Given the description of an element on the screen output the (x, y) to click on. 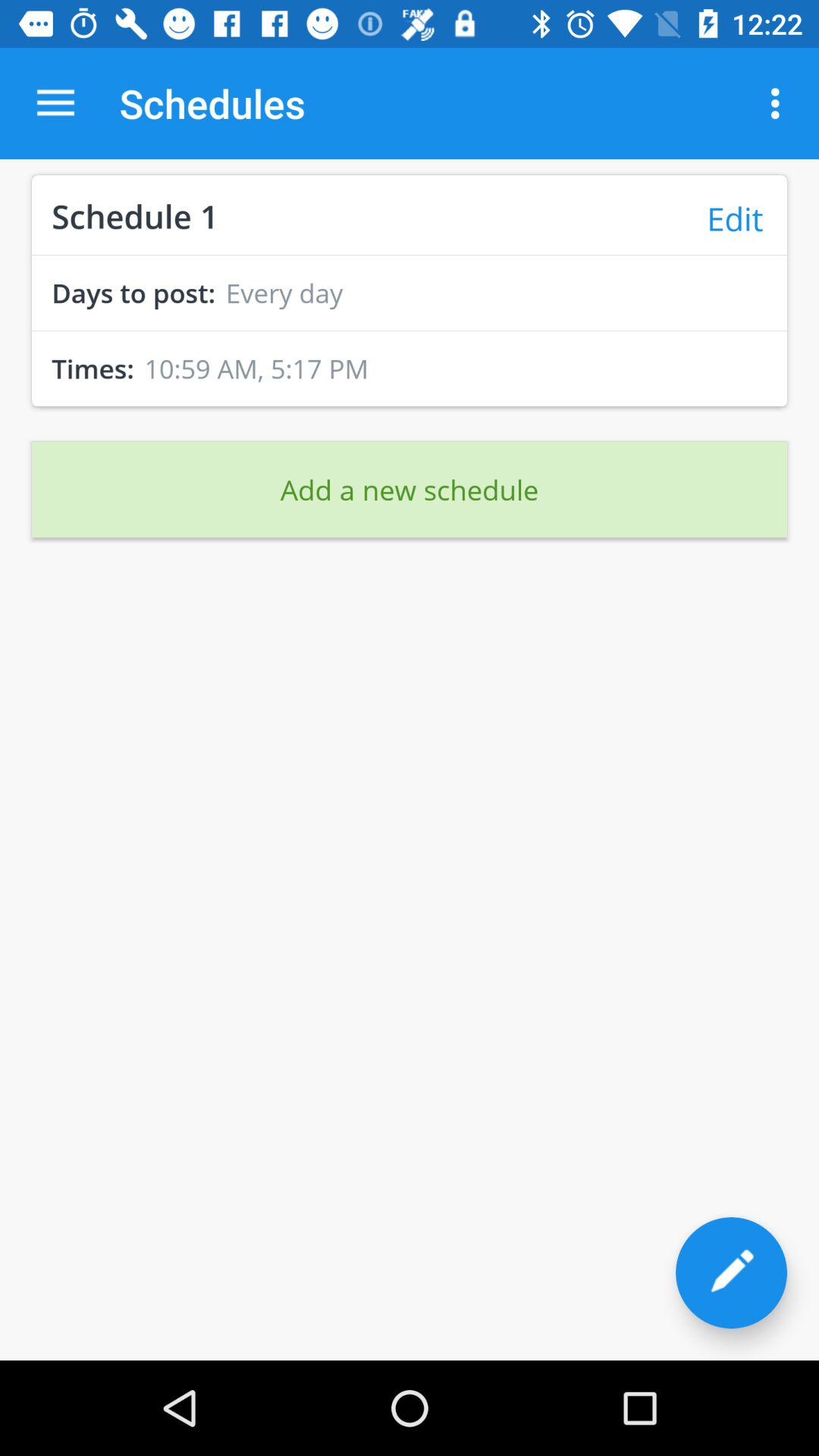
press the times: icon (87, 368)
